Given the description of an element on the screen output the (x, y) to click on. 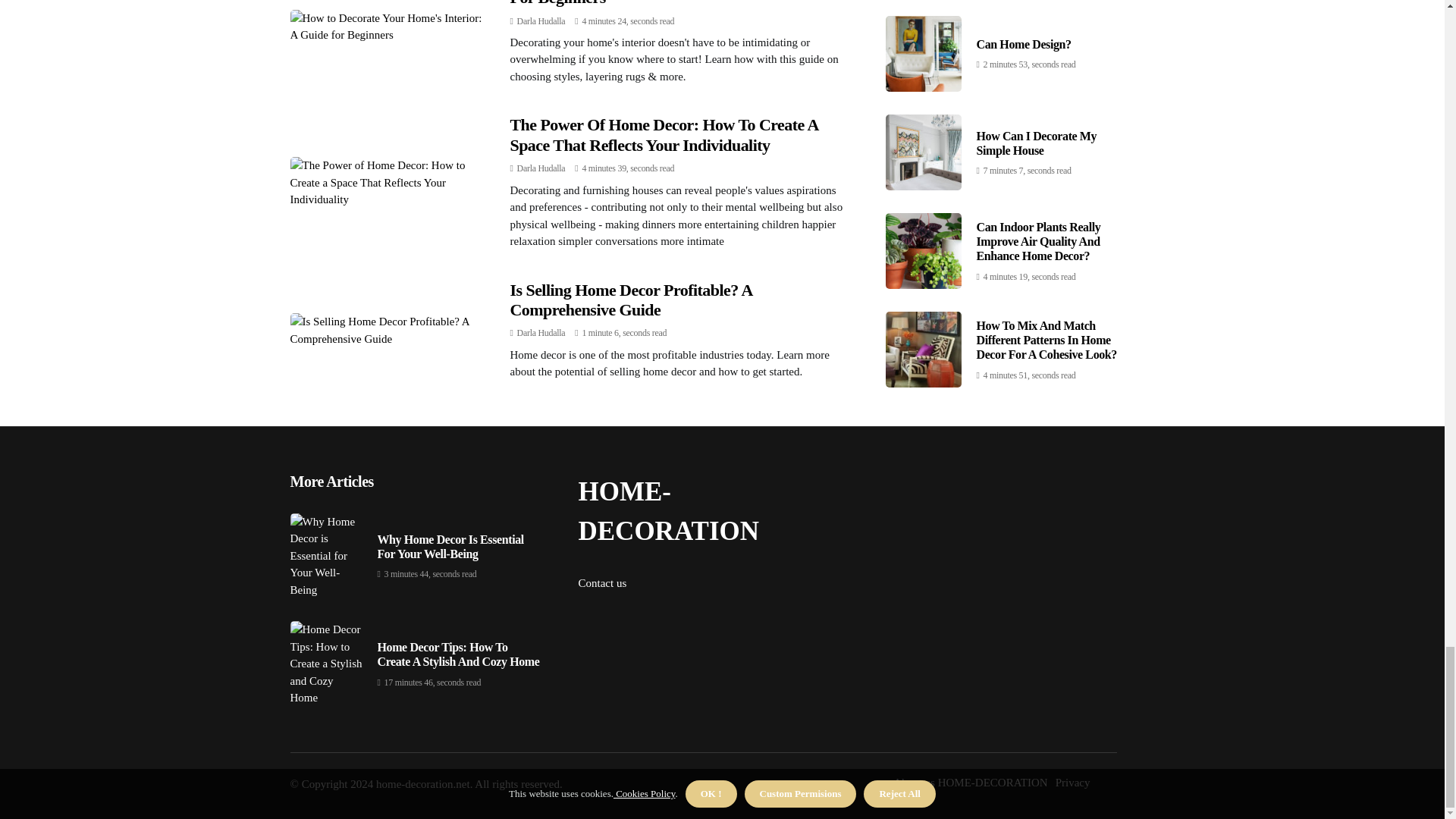
Posts by Darla Hudalla (541, 20)
How To Decorate Your Home'S Interior: A Guide For Beginners (673, 3)
Posts by Darla Hudalla (541, 332)
Darla Hudalla (541, 167)
Is Selling Home Decor Profitable? A Comprehensive Guide (630, 299)
Posts by Darla Hudalla (541, 167)
Darla Hudalla (541, 20)
Darla Hudalla (541, 332)
